Given the description of an element on the screen output the (x, y) to click on. 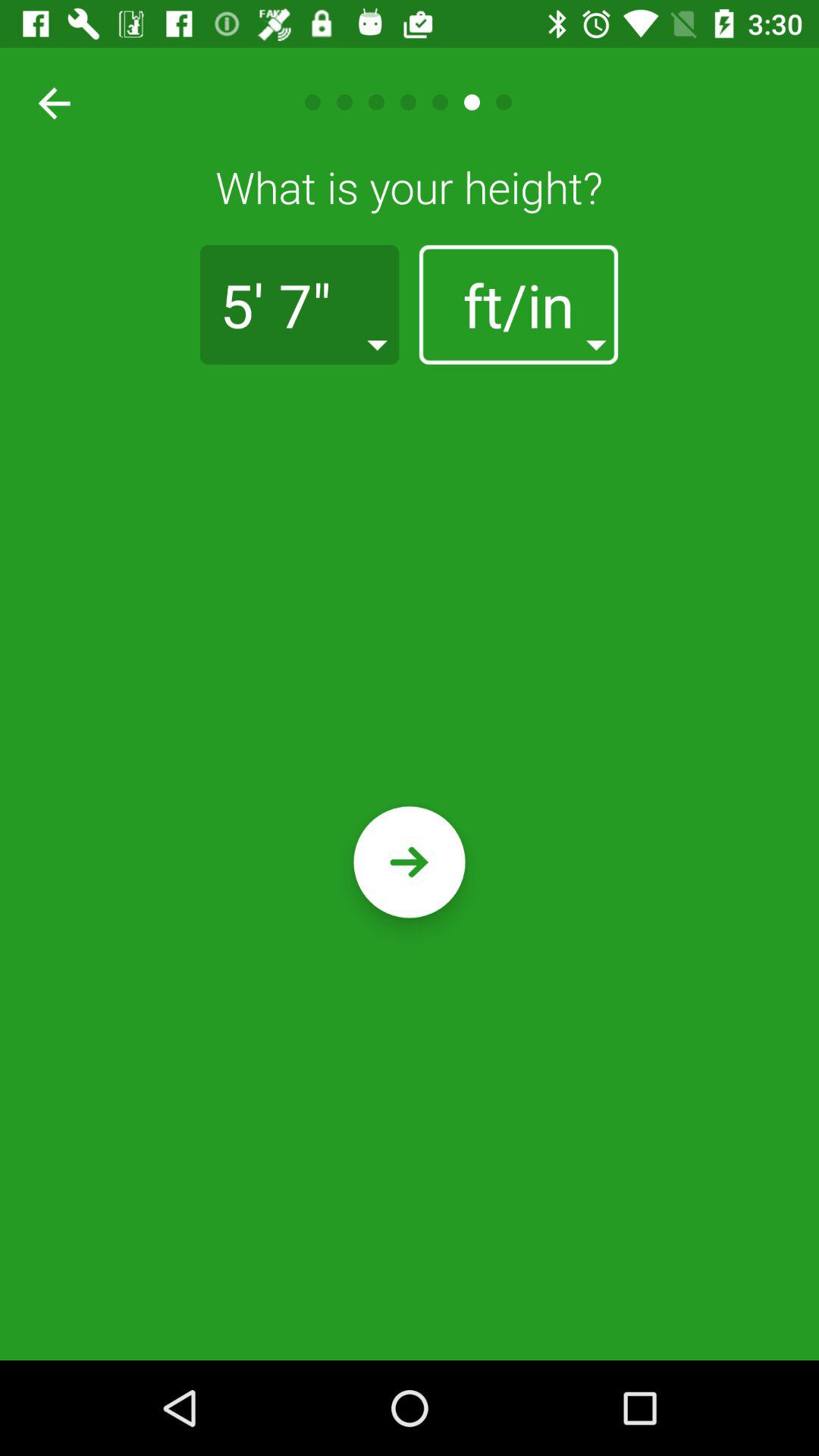
go forward (409, 861)
